Given the description of an element on the screen output the (x, y) to click on. 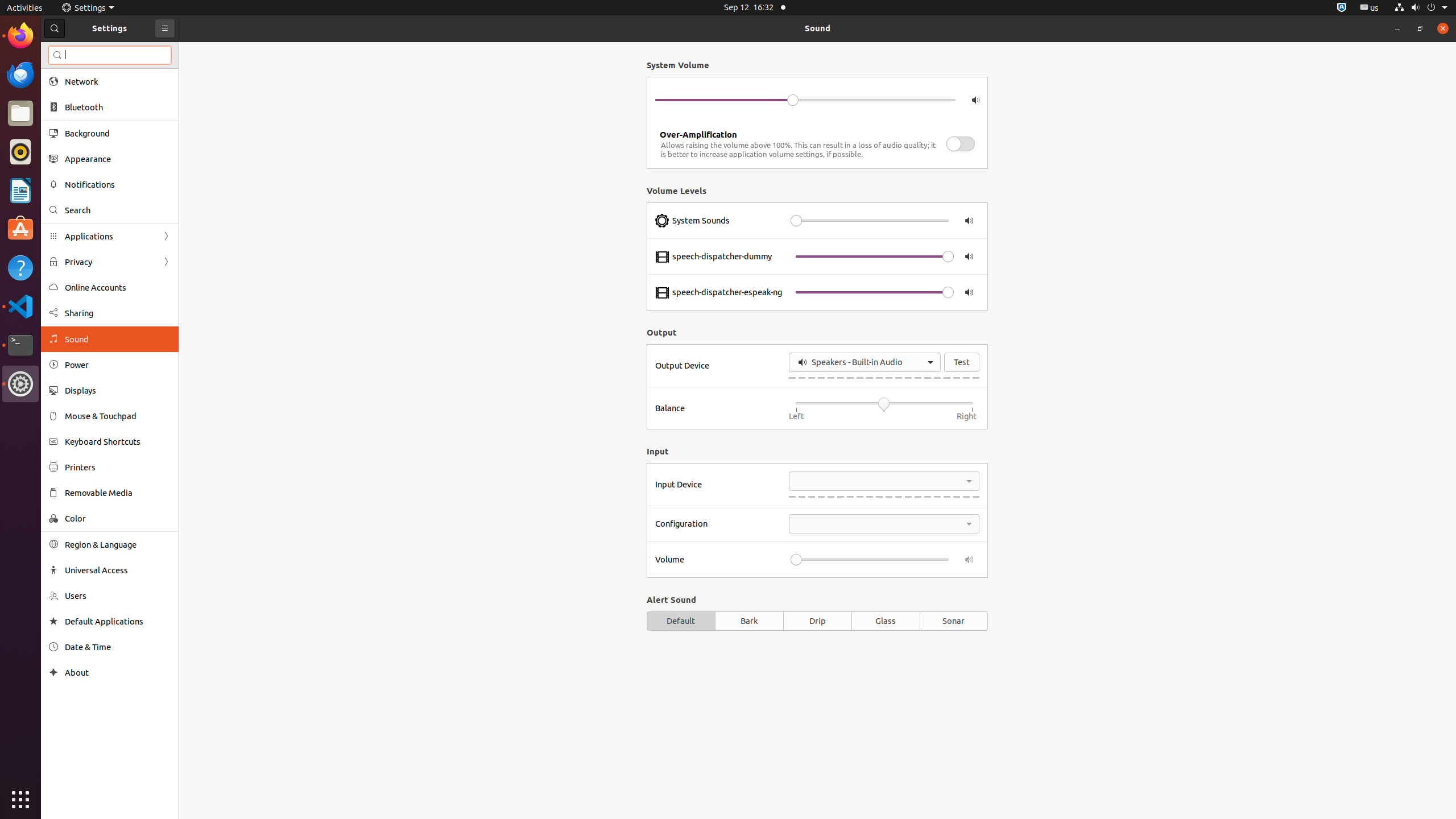
Forward Element type: icon (165, 261)
Close Element type: push-button (1442, 27)
luyi1 Element type: label (75, 50)
